Given the description of an element on the screen output the (x, y) to click on. 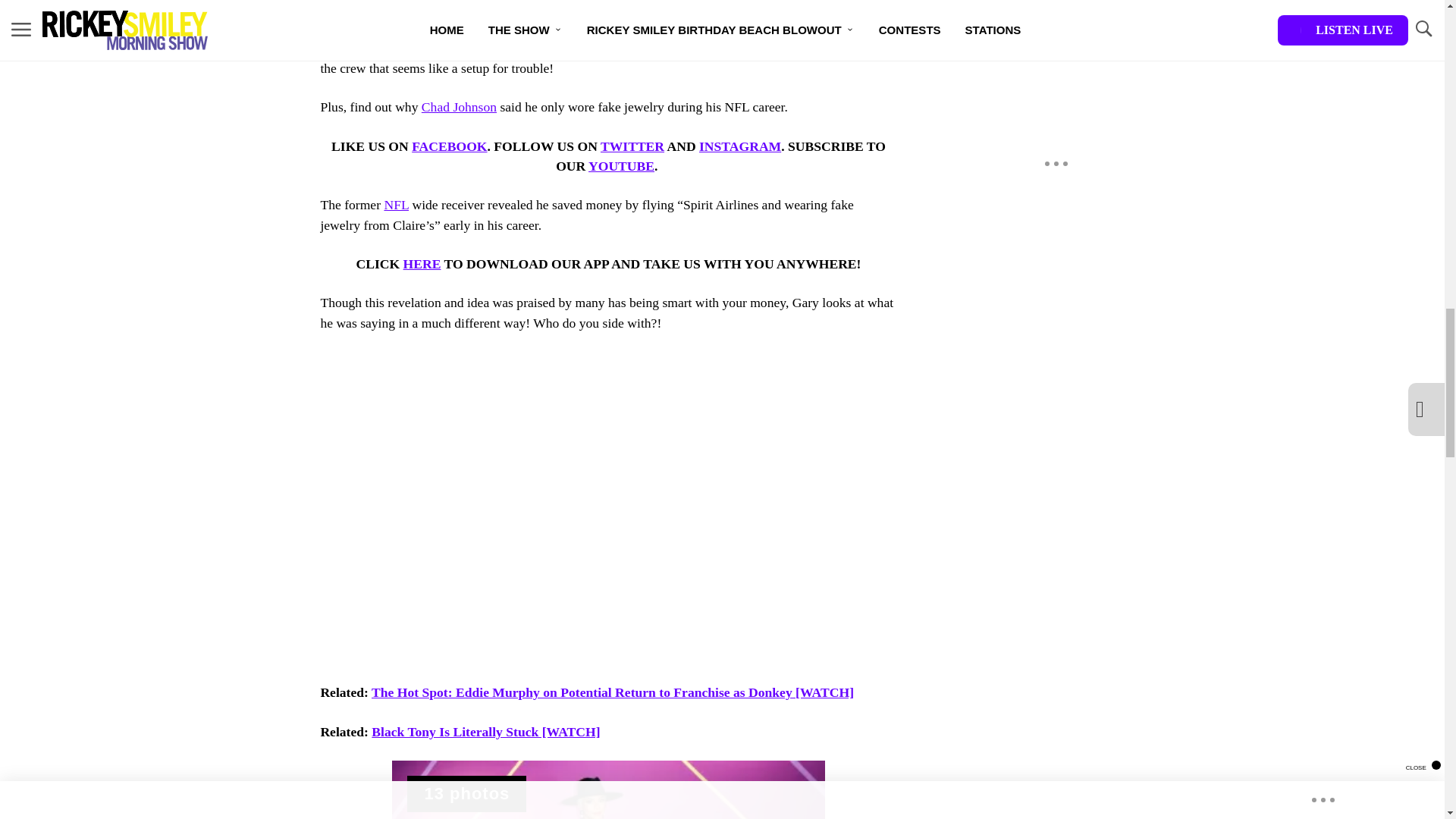
Media Playlist (466, 793)
Chad Johnson (459, 106)
FACEBOOK (449, 145)
Embedded video (607, 488)
HERE (422, 263)
TWITTER (631, 145)
YOUTUBE (620, 165)
NFL (396, 204)
INSTAGRAM (739, 145)
